Given the description of an element on the screen output the (x, y) to click on. 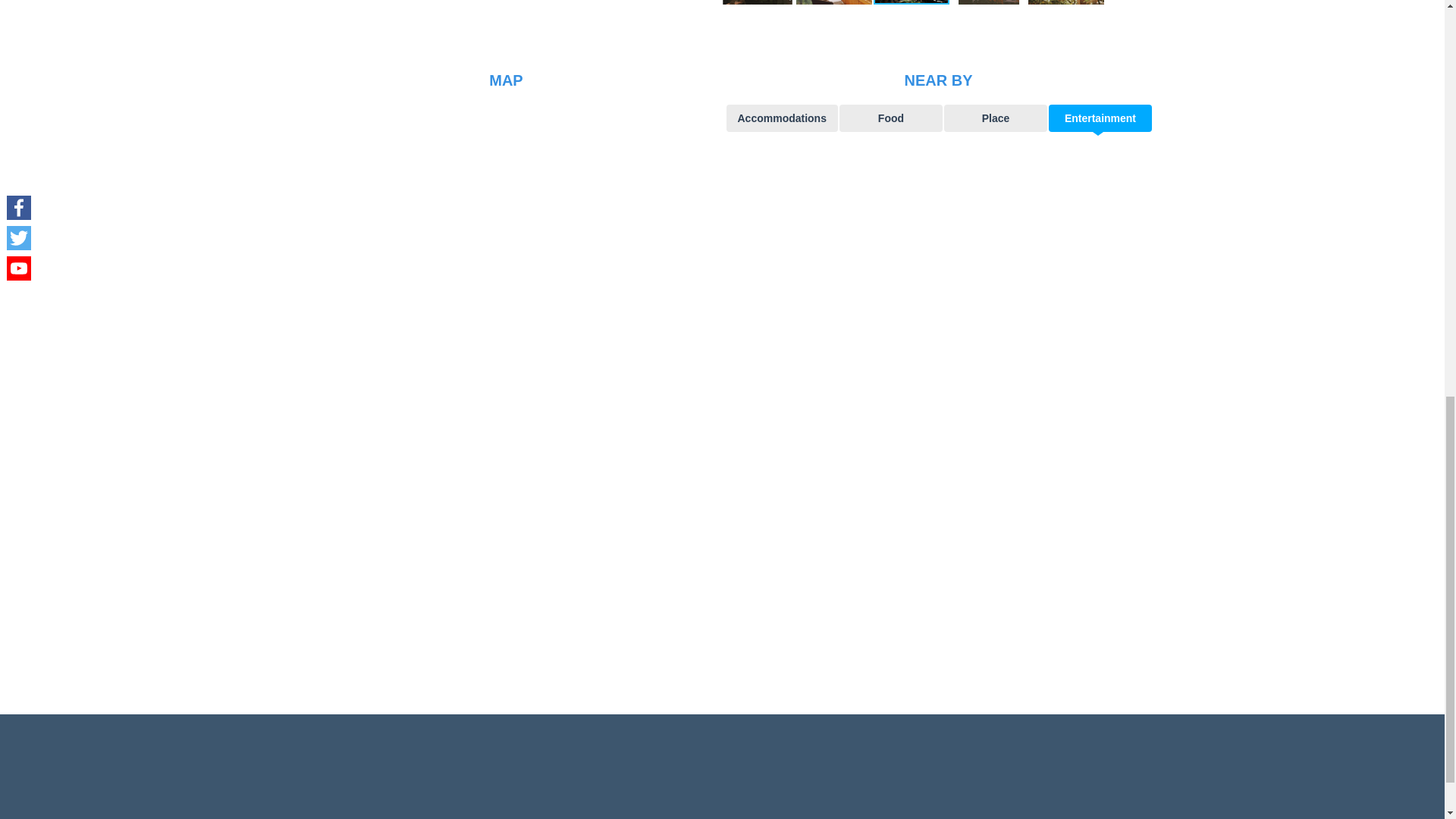
Entertainment (1099, 117)
Accommodations (782, 117)
Food (891, 117)
Place (994, 117)
